Given the description of an element on the screen output the (x, y) to click on. 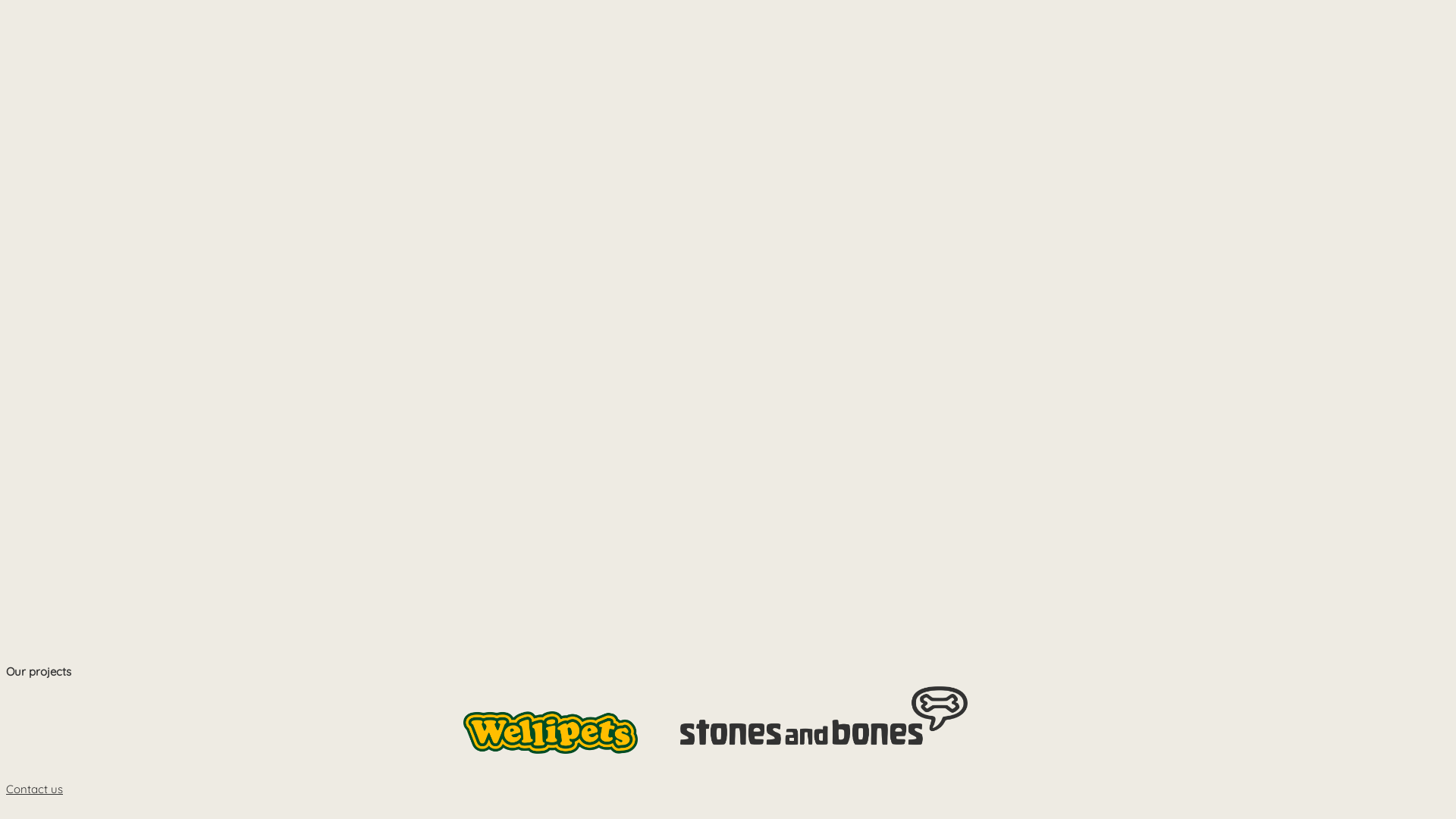
Contact us Element type: text (34, 788)
